Given the description of an element on the screen output the (x, y) to click on. 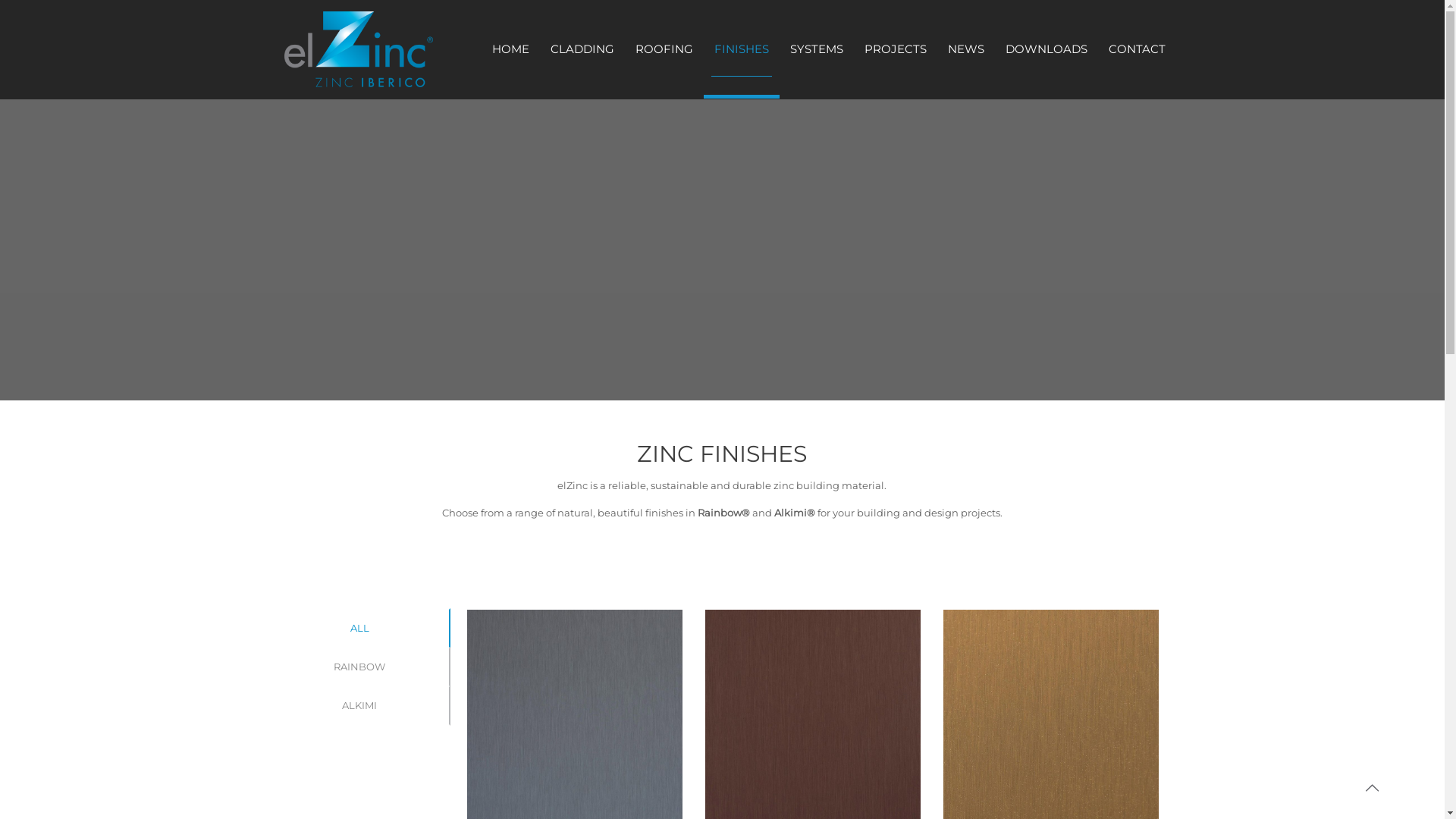
DOWNLOADS Element type: text (1046, 49)
elZinc Element type: hover (357, 49)
CONTACT Element type: text (1137, 49)
ROOFING Element type: text (663, 49)
ALL Element type: text (359, 628)
RAINBOW Element type: text (359, 666)
CLADDING Element type: text (581, 49)
NEWS Element type: text (965, 49)
SYSTEMS Element type: text (816, 49)
PROJECTS Element type: text (895, 49)
FINISHES Element type: text (741, 62)
HOME Element type: text (509, 49)
ALKIMI Element type: text (359, 705)
